Given the description of an element on the screen output the (x, y) to click on. 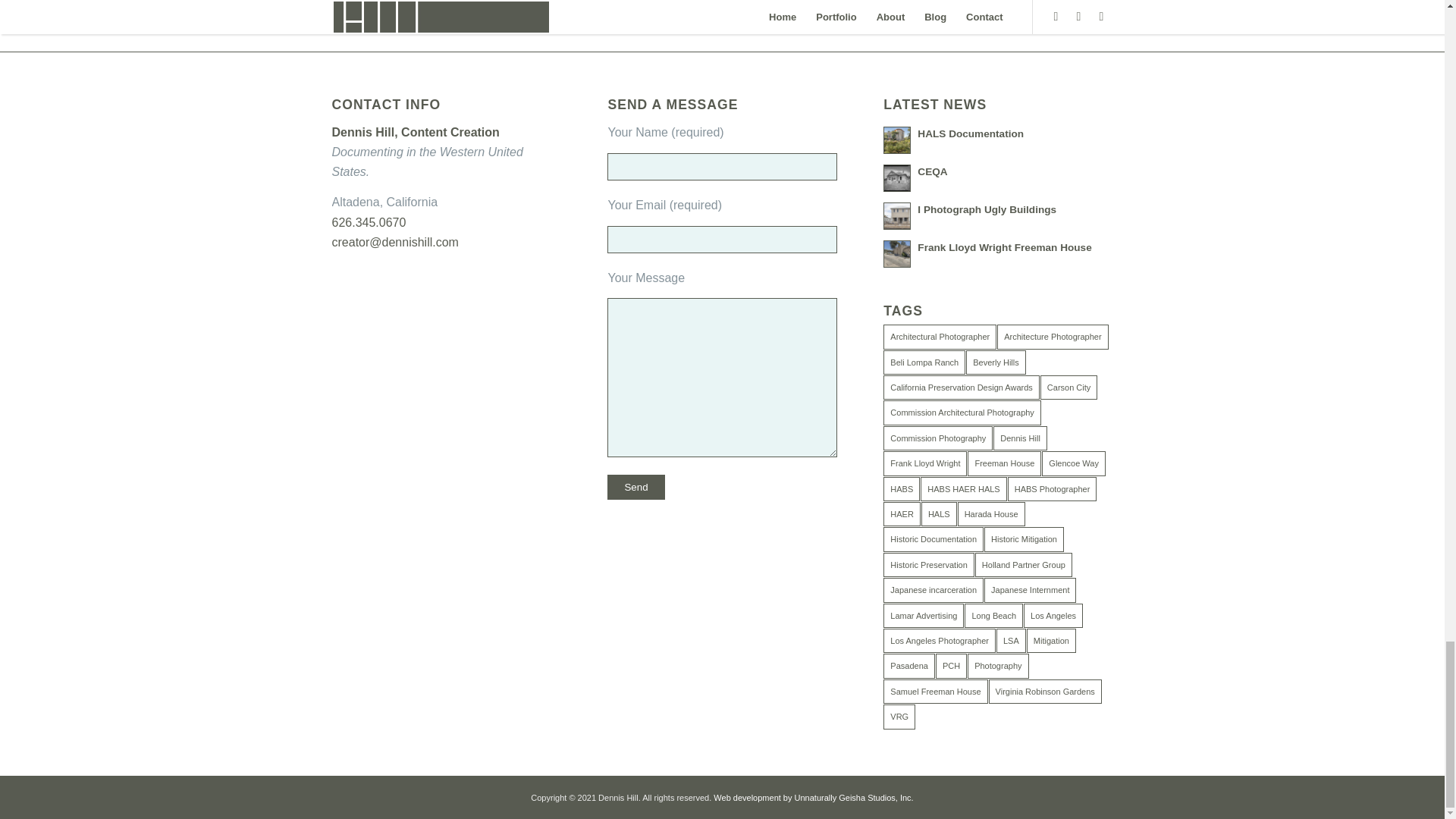
Read: HALS Documentation (970, 133)
Read: CEQA (932, 171)
CEQA (932, 171)
I Photograph Ugly Buildings (987, 209)
Frank Lloyd Wright (924, 463)
Carson City (1069, 387)
Read: Frank Lloyd Wright Freeman House (897, 253)
Read: HALS Documentation (897, 139)
Read: CEQA (897, 177)
Frank Lloyd Wright Freeman House (1003, 247)
Commission Architectural Photography (962, 412)
HALS Documentation (970, 133)
Commission Photography (937, 437)
Read: Frank Lloyd Wright Freeman House (1003, 247)
Beverly Hills (996, 362)
